Given the description of an element on the screen output the (x, y) to click on. 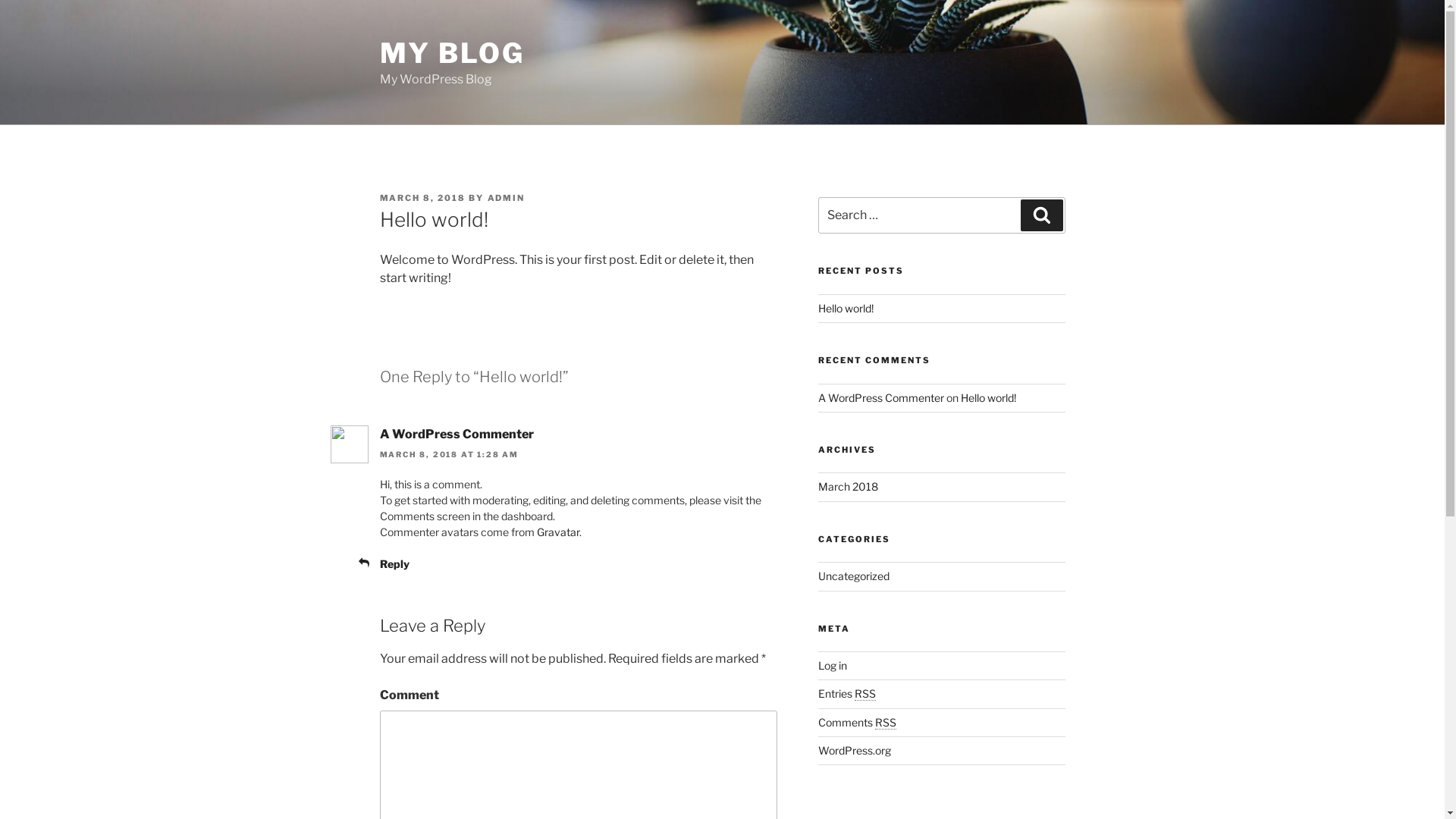
MARCH 8, 2018 Element type: text (422, 197)
Log in Element type: text (832, 664)
Uncategorized Element type: text (853, 575)
MARCH 8, 2018 AT 1:28 AM Element type: text (448, 453)
A WordPress Commenter Element type: text (456, 433)
MY BLOG Element type: text (451, 52)
Comments RSS Element type: text (857, 721)
Reply Element type: text (393, 563)
March 2018 Element type: text (848, 486)
Hello world! Element type: text (988, 397)
Skip to content Element type: text (0, 0)
ADMIN Element type: text (505, 197)
Search Element type: text (1041, 215)
A WordPress Commenter Element type: text (881, 397)
Entries RSS Element type: text (846, 693)
Hello world! Element type: text (845, 307)
Gravatar Element type: text (557, 531)
WordPress.org Element type: text (854, 749)
